Given the description of an element on the screen output the (x, y) to click on. 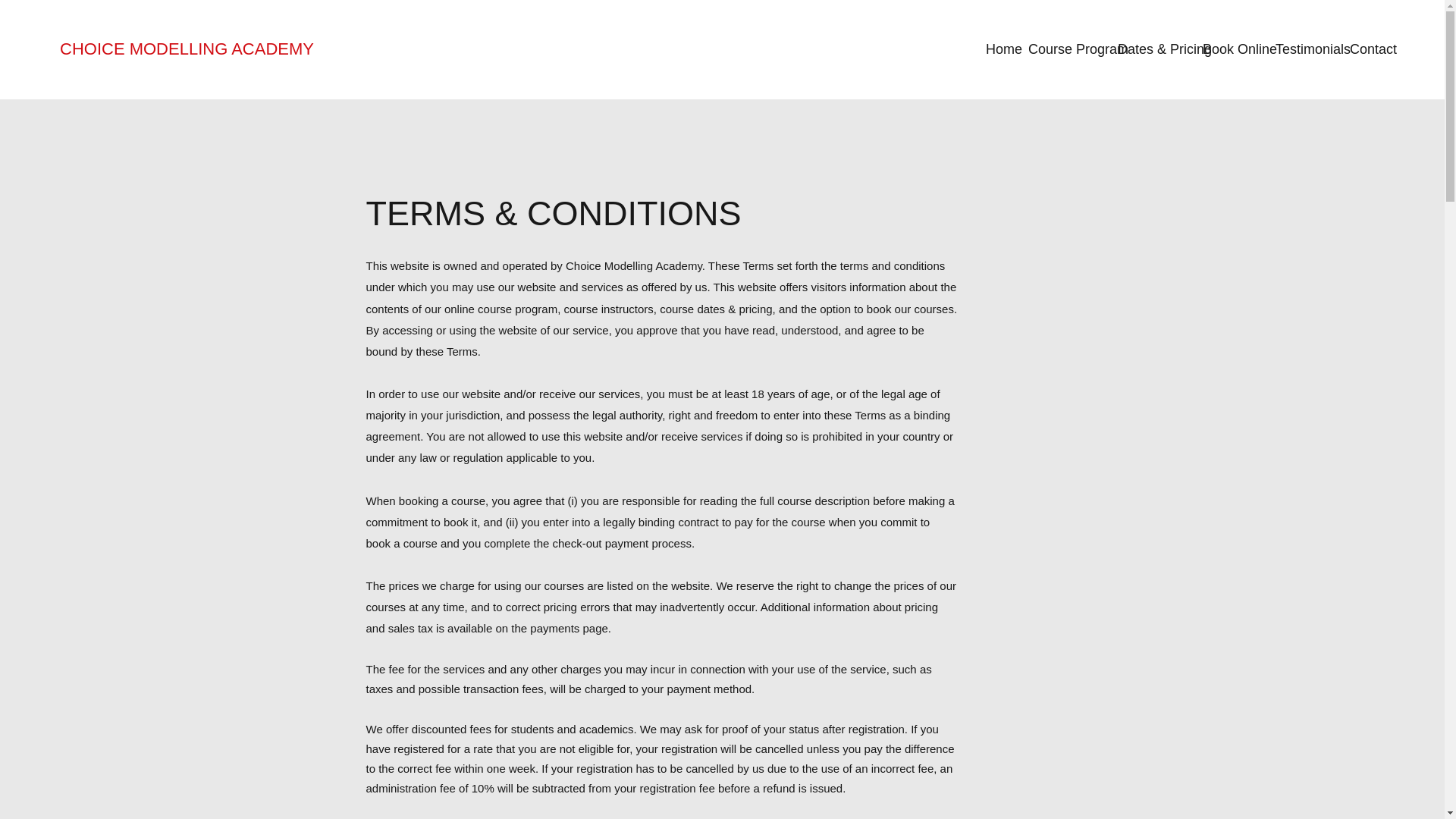
Home (999, 48)
Testimonials (1305, 48)
Course Program (1064, 48)
Book Online (1231, 48)
Contact (1367, 48)
CHOICE MODELLING ACADEMY (186, 48)
